Given the description of an element on the screen output the (x, y) to click on. 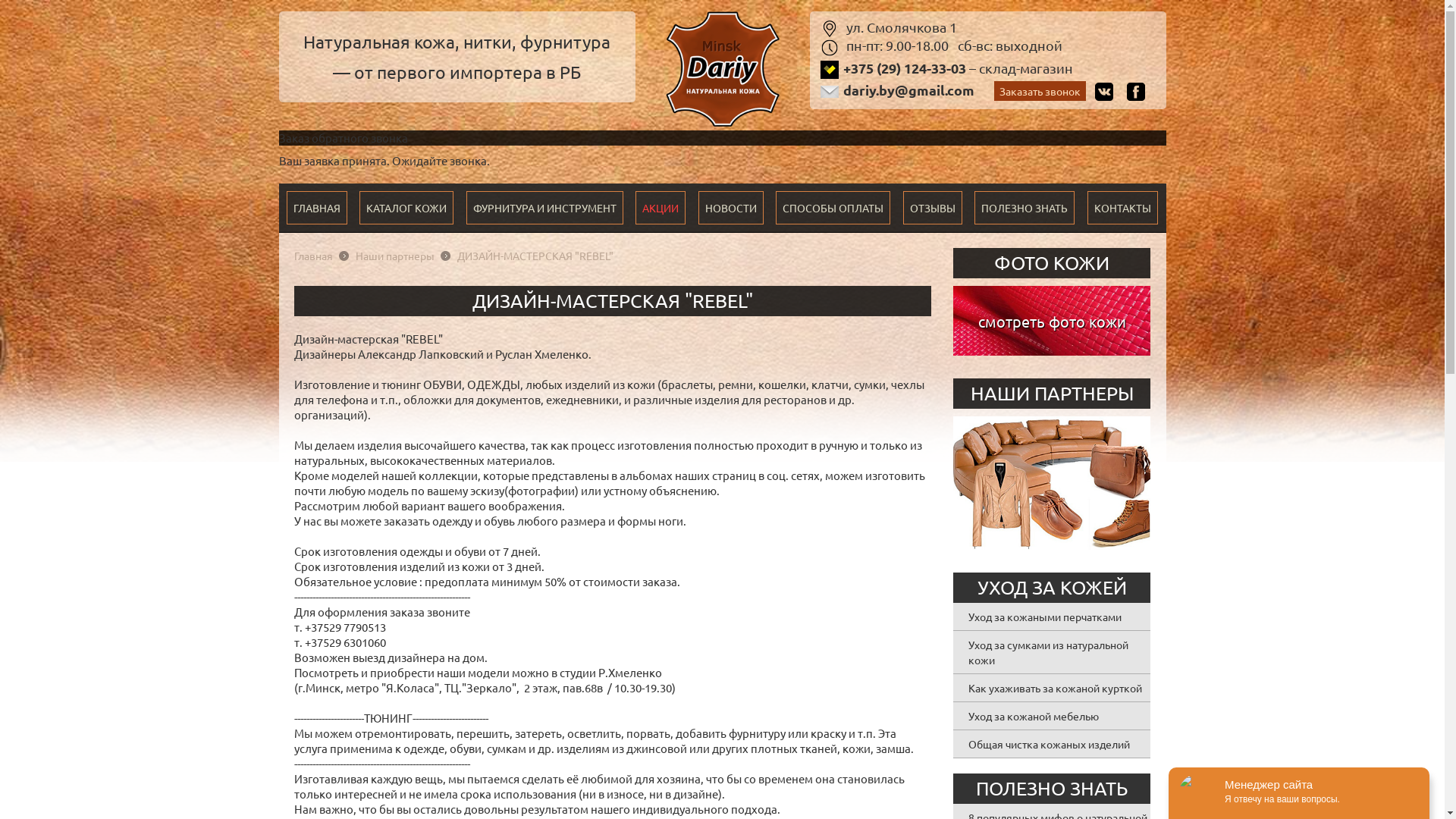
dariy.by@gmail.com Element type: text (908, 89)
+375 (29) 124-33-03 Element type: text (904, 67)
save Element type: text (45, 9)
